Given the description of an element on the screen output the (x, y) to click on. 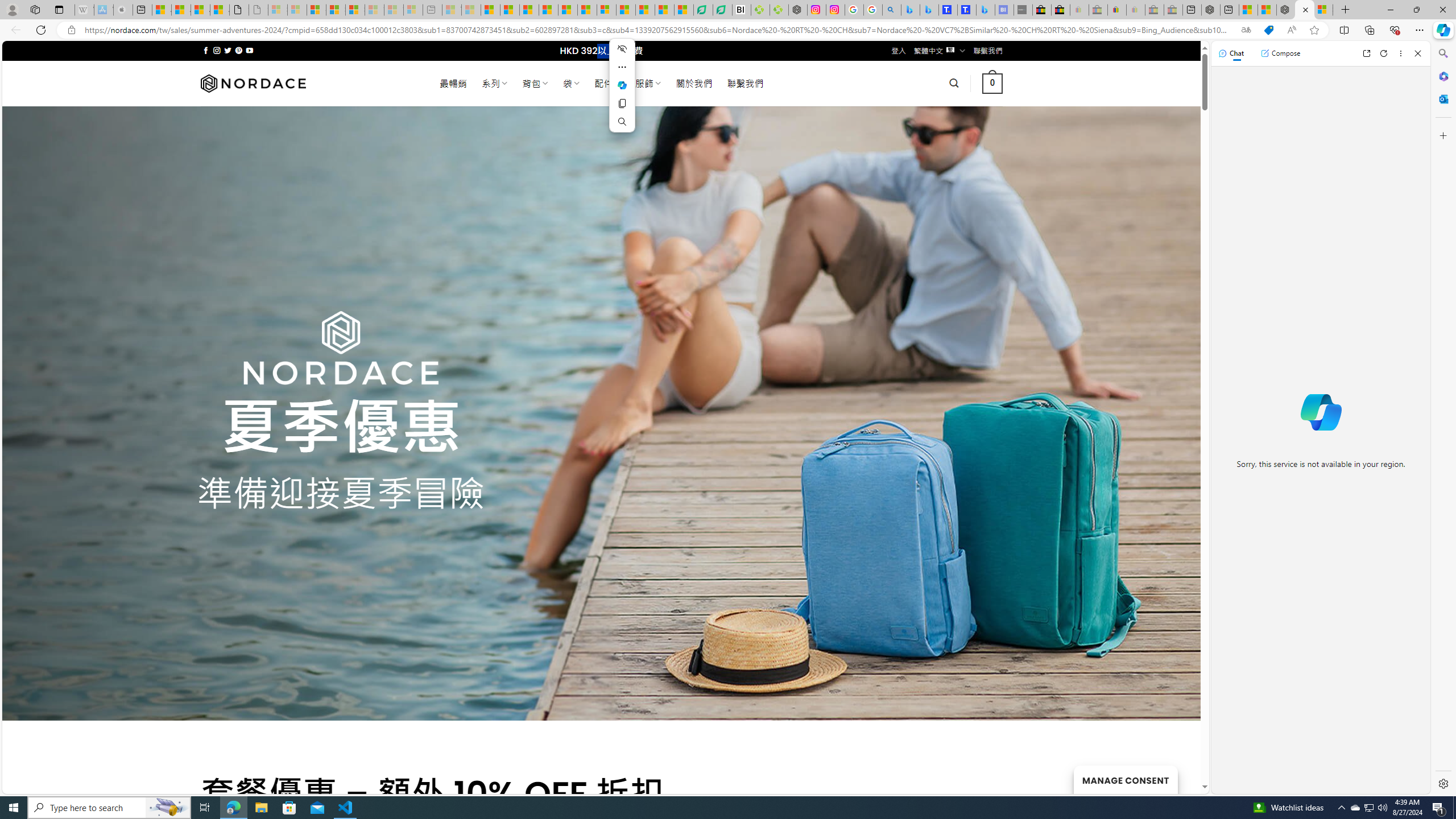
 0  (992, 83)
Aberdeen, Hong Kong SAR weather forecast | Microsoft Weather (180, 9)
Microsoft Services Agreement - Sleeping (296, 9)
Aberdeen, Hong Kong SAR severe weather | Microsoft Weather (219, 9)
Hide menu (622, 49)
Shangri-La Bangkok, Hotel reviews and Room rates (966, 9)
This site has coupons! Shopping in Microsoft Edge (1268, 29)
